Given the description of an element on the screen output the (x, y) to click on. 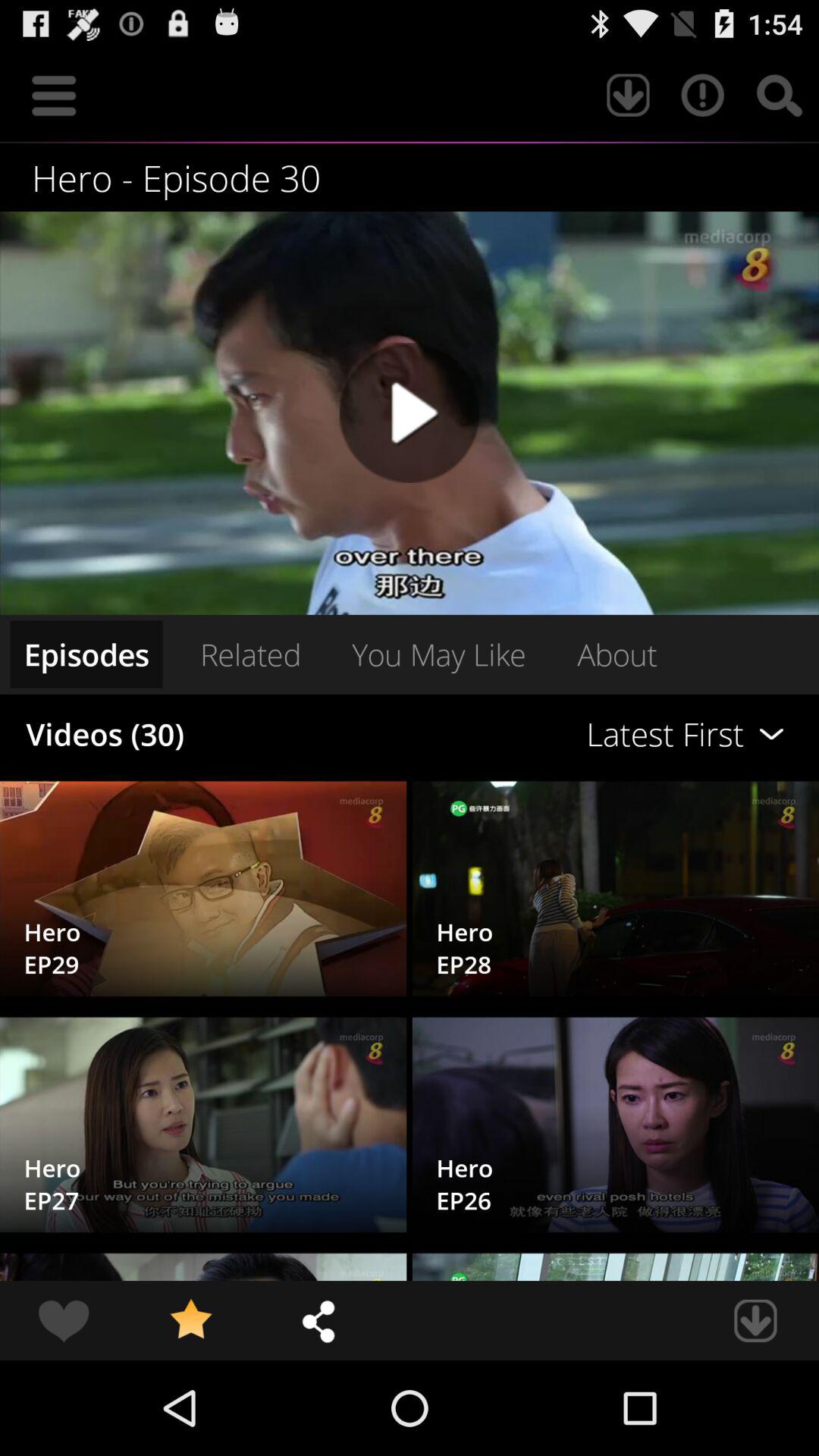
turn off the icon next to latest first item (250, 654)
